Given the description of an element on the screen output the (x, y) to click on. 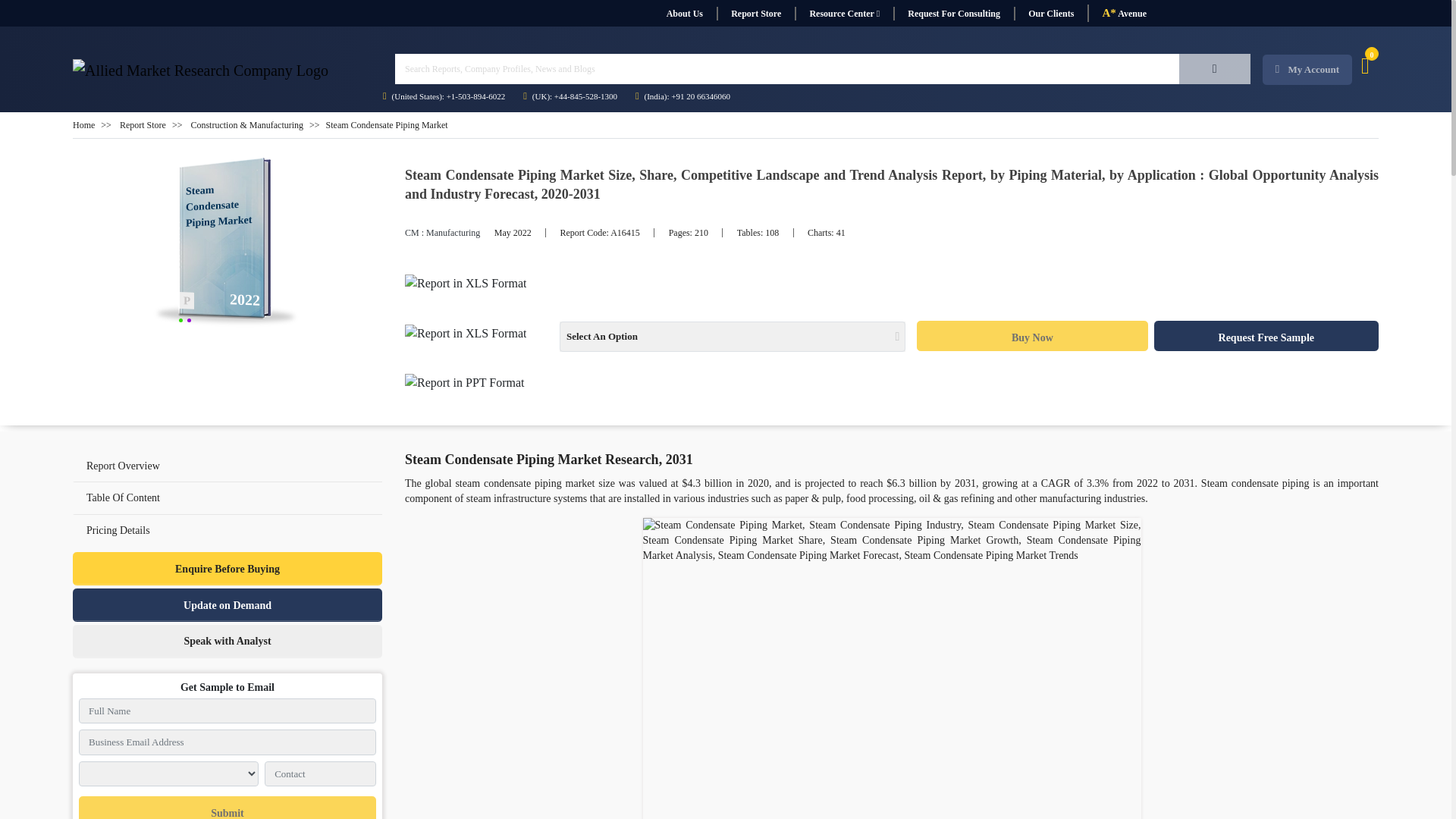
Buy Now (1032, 336)
Speak with Analyst (226, 641)
Report Store (755, 13)
Buy Now (1032, 336)
Home (83, 124)
My Account (1307, 69)
Enquire Before Buying (226, 568)
About Us (684, 13)
Request Free Sample (1266, 336)
Resource Center (843, 13)
